Given the description of an element on the screen output the (x, y) to click on. 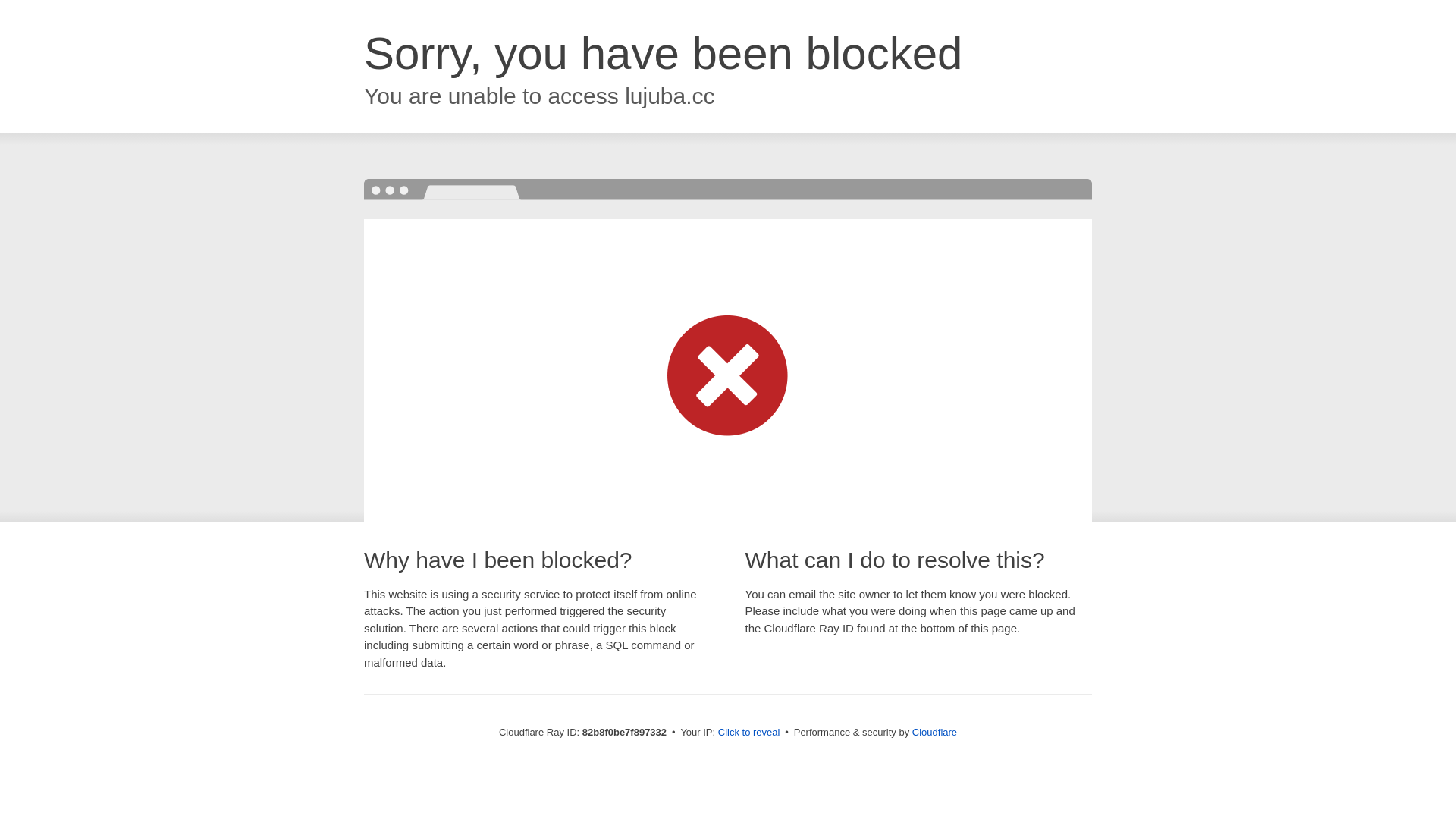
Click to reveal Element type: text (749, 732)
Cloudflare Element type: text (934, 731)
